Given the description of an element on the screen output the (x, y) to click on. 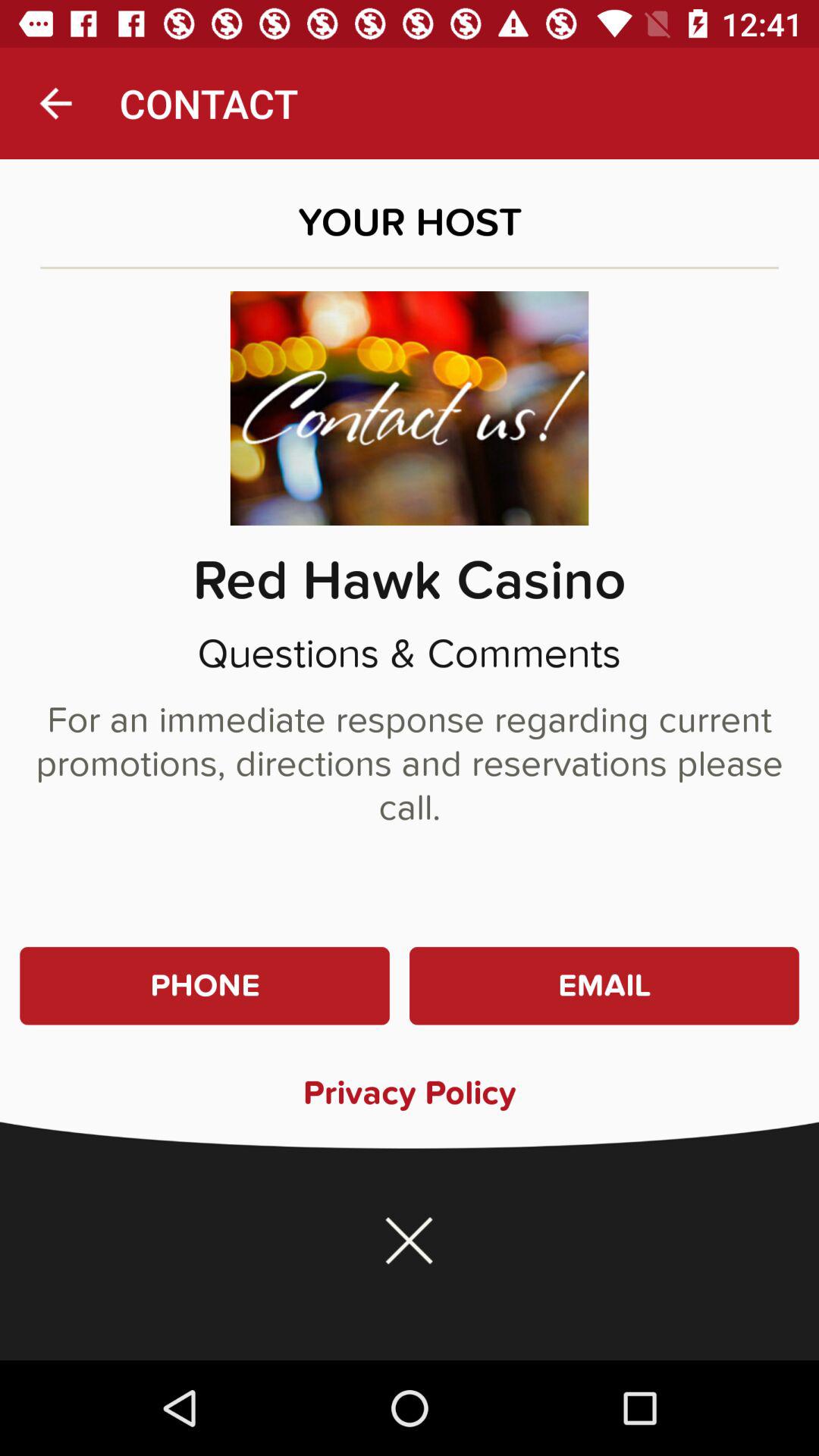
select item at the bottom left corner (204, 985)
